Given the description of an element on the screen output the (x, y) to click on. 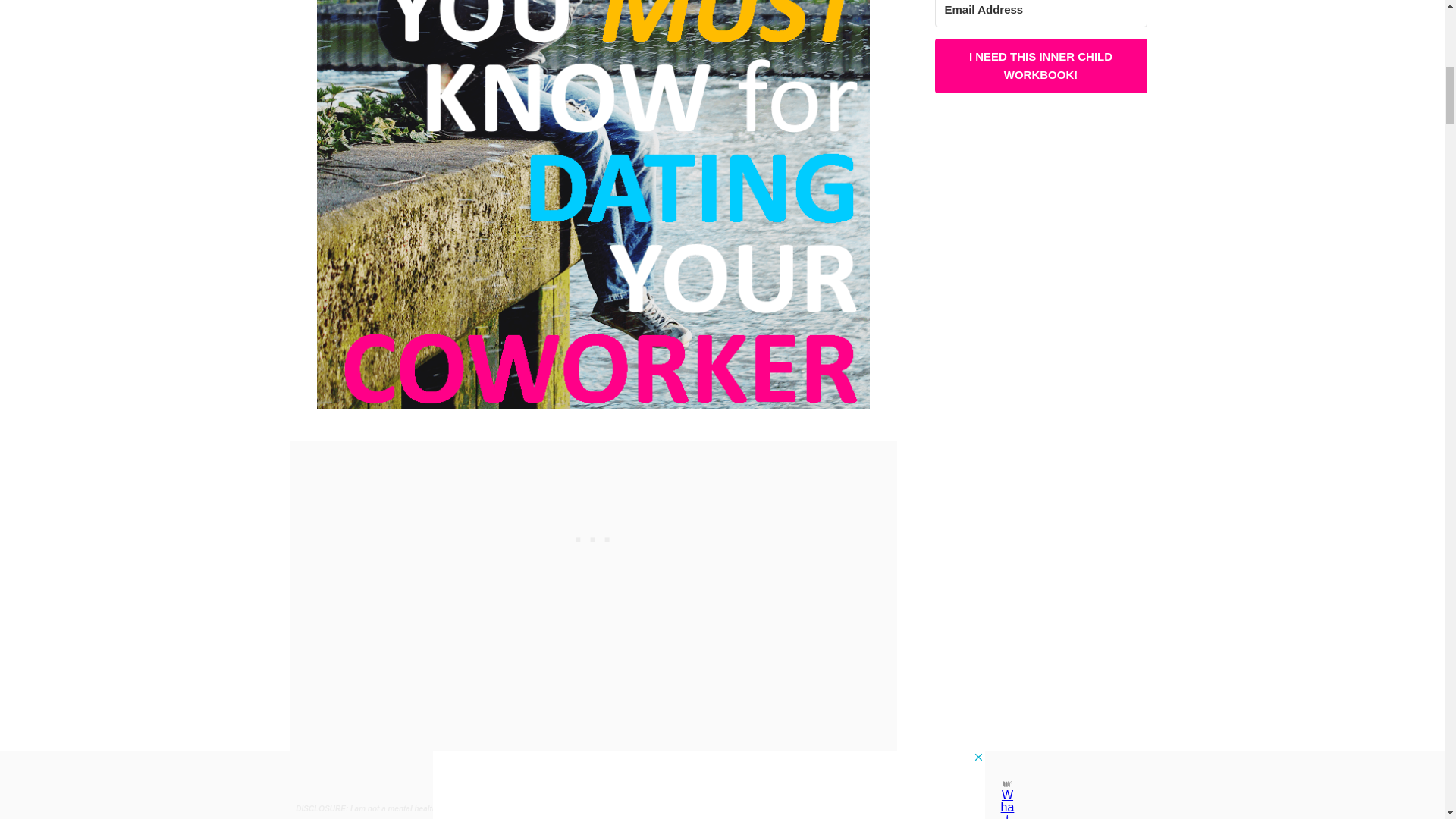
Online Therapy (836, 808)
3rd party ad content (1040, 243)
3rd party ad content (592, 535)
